Given the description of an element on the screen output the (x, y) to click on. 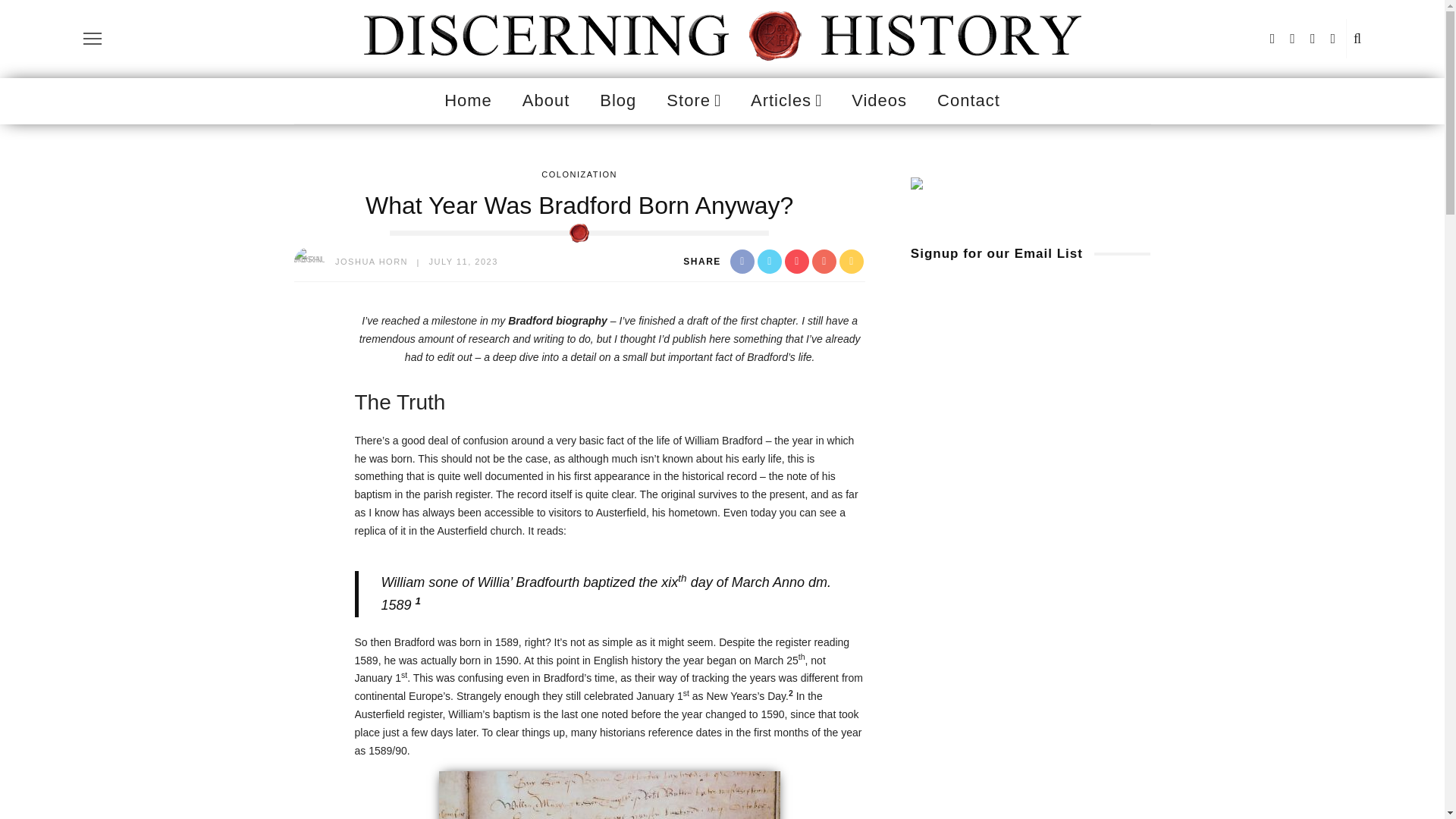
Post by Joshua Horn (370, 261)
Store (692, 100)
Blog (617, 100)
off canvas button (91, 38)
Home (467, 100)
About (545, 100)
